Given the description of an element on the screen output the (x, y) to click on. 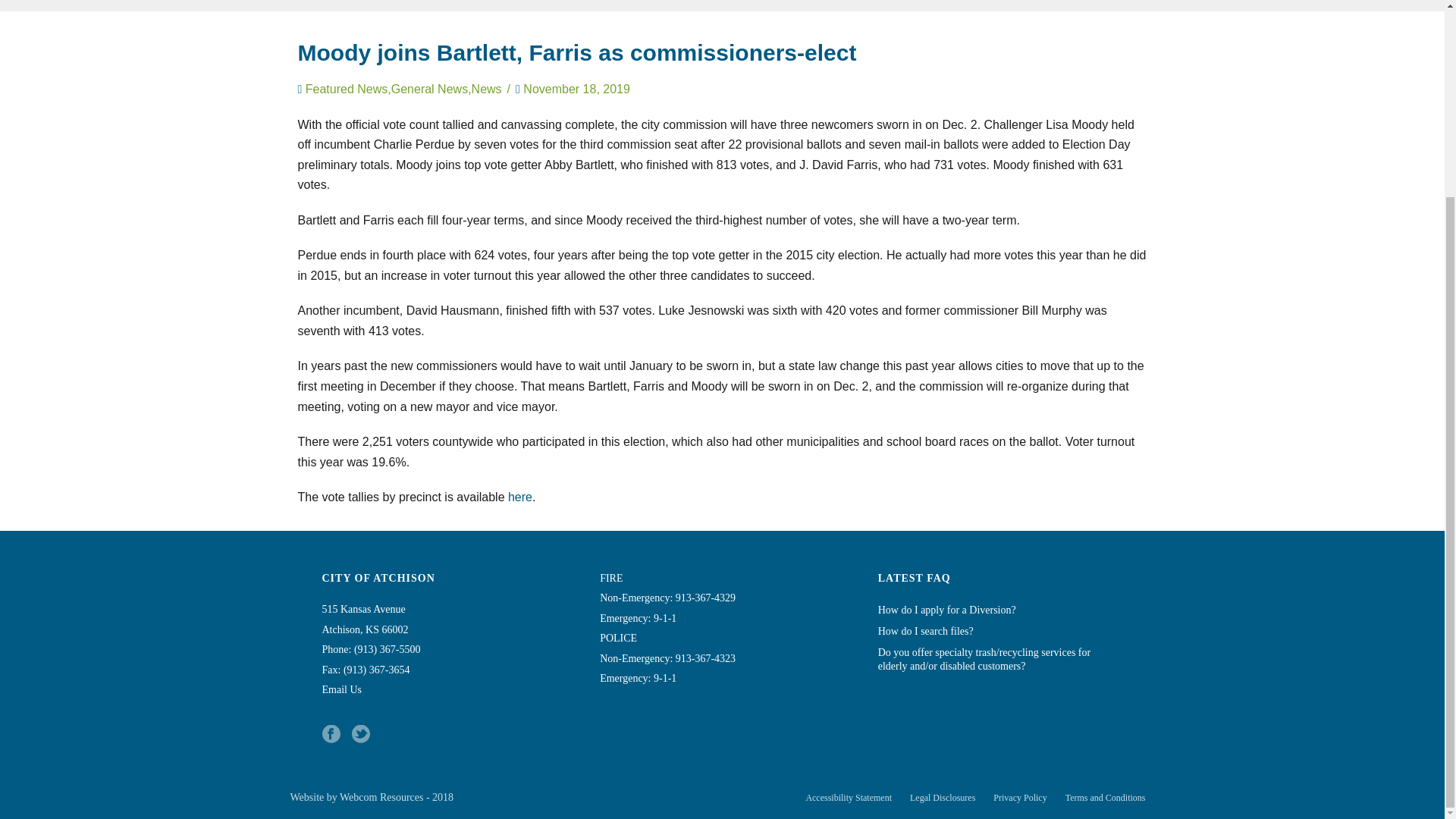
Follow Us on facebook (330, 734)
8:27 PM (576, 89)
8:27 PM (576, 88)
Follow Us on twitter (360, 734)
